Given the description of an element on the screen output the (x, y) to click on. 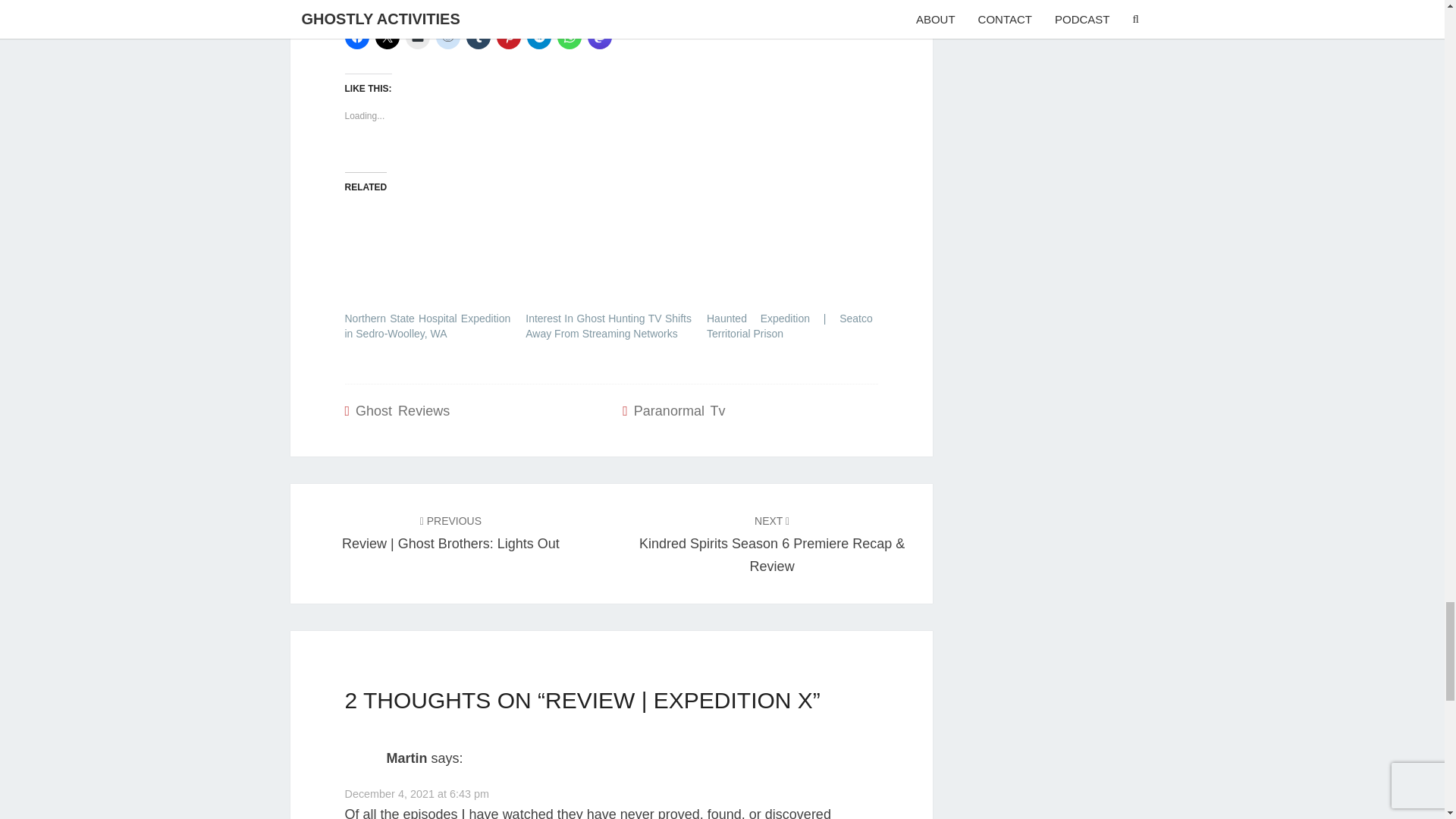
Click to email a link to a friend (416, 37)
Paranormal Tv (679, 410)
Click to share on Mastodon (598, 37)
Click to share on WhatsApp (568, 37)
Northern State Hospital Expedition in Sedro-Woolley, WA (427, 249)
Click to share on Reddit (447, 37)
Northern State Hospital Expedition in Sedro-Woolley, WA (427, 325)
Click to share on Telegram (537, 37)
